Given the description of an element on the screen output the (x, y) to click on. 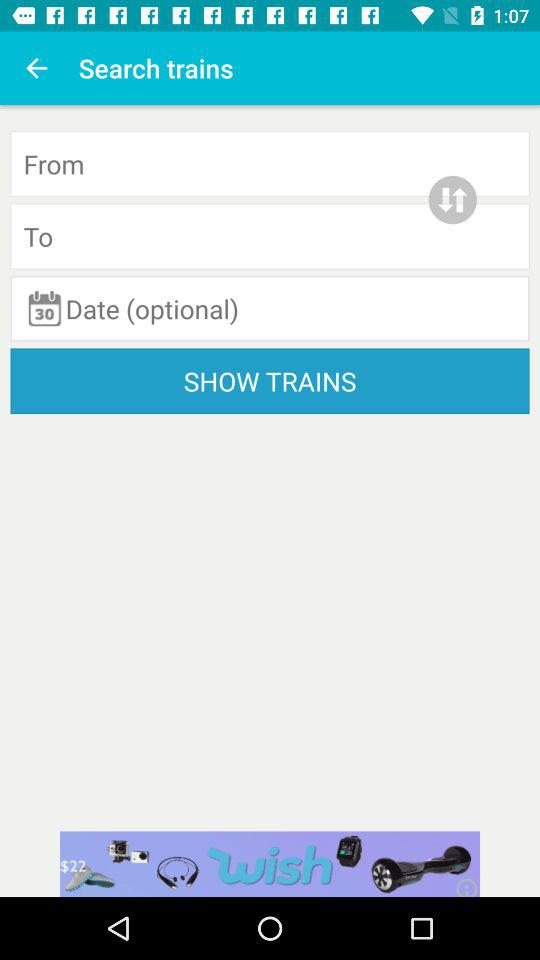
select the wish (270, 864)
